Given the description of an element on the screen output the (x, y) to click on. 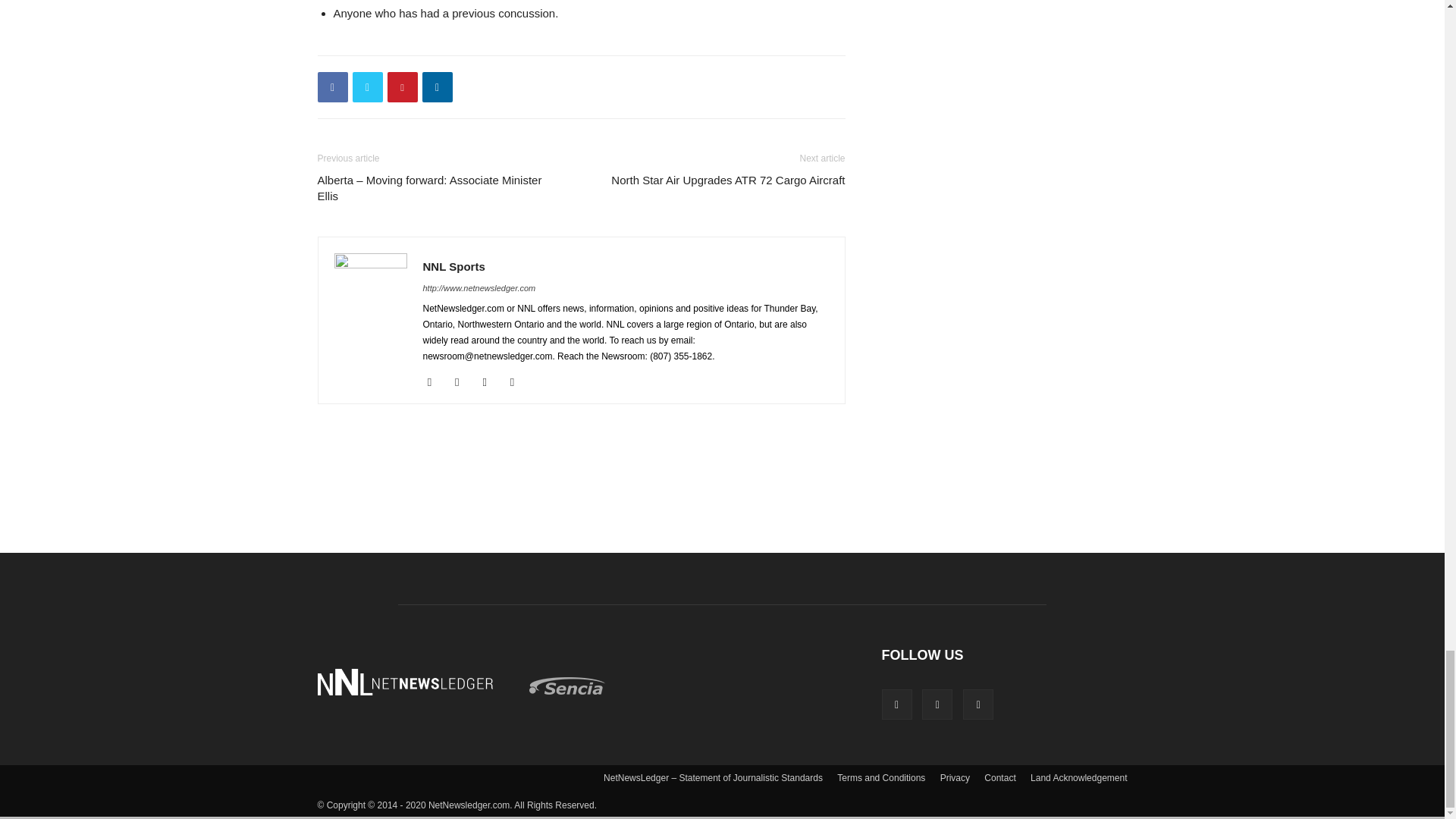
Linkedin (436, 87)
Twitter (366, 87)
Pinterest (401, 87)
Facebook (332, 87)
